Given the description of an element on the screen output the (x, y) to click on. 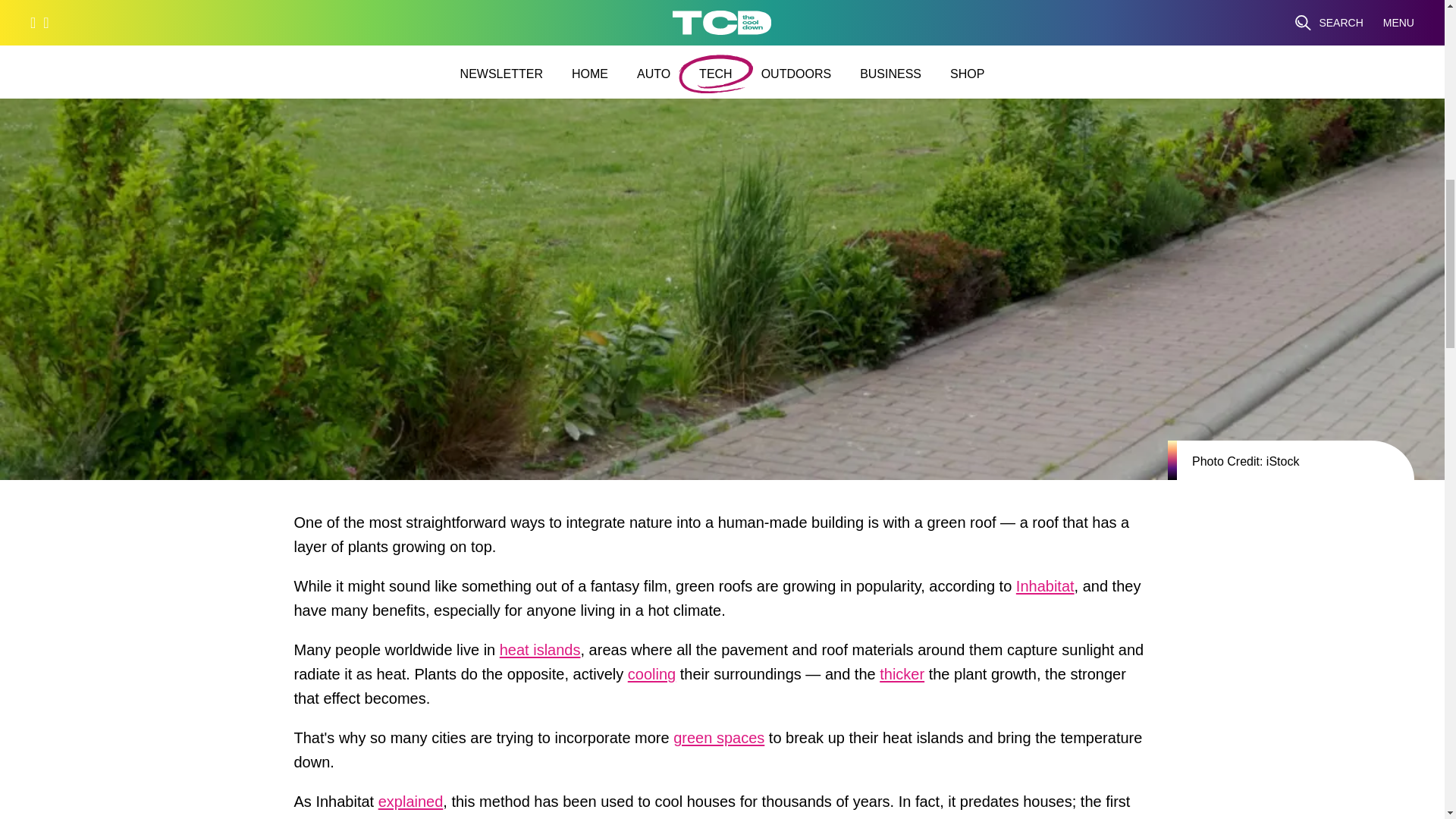
heat islands (539, 653)
thicker (901, 677)
cooling (651, 677)
explained (411, 805)
Inhabitat (1045, 589)
green spaces (718, 741)
